Given the description of an element on the screen output the (x, y) to click on. 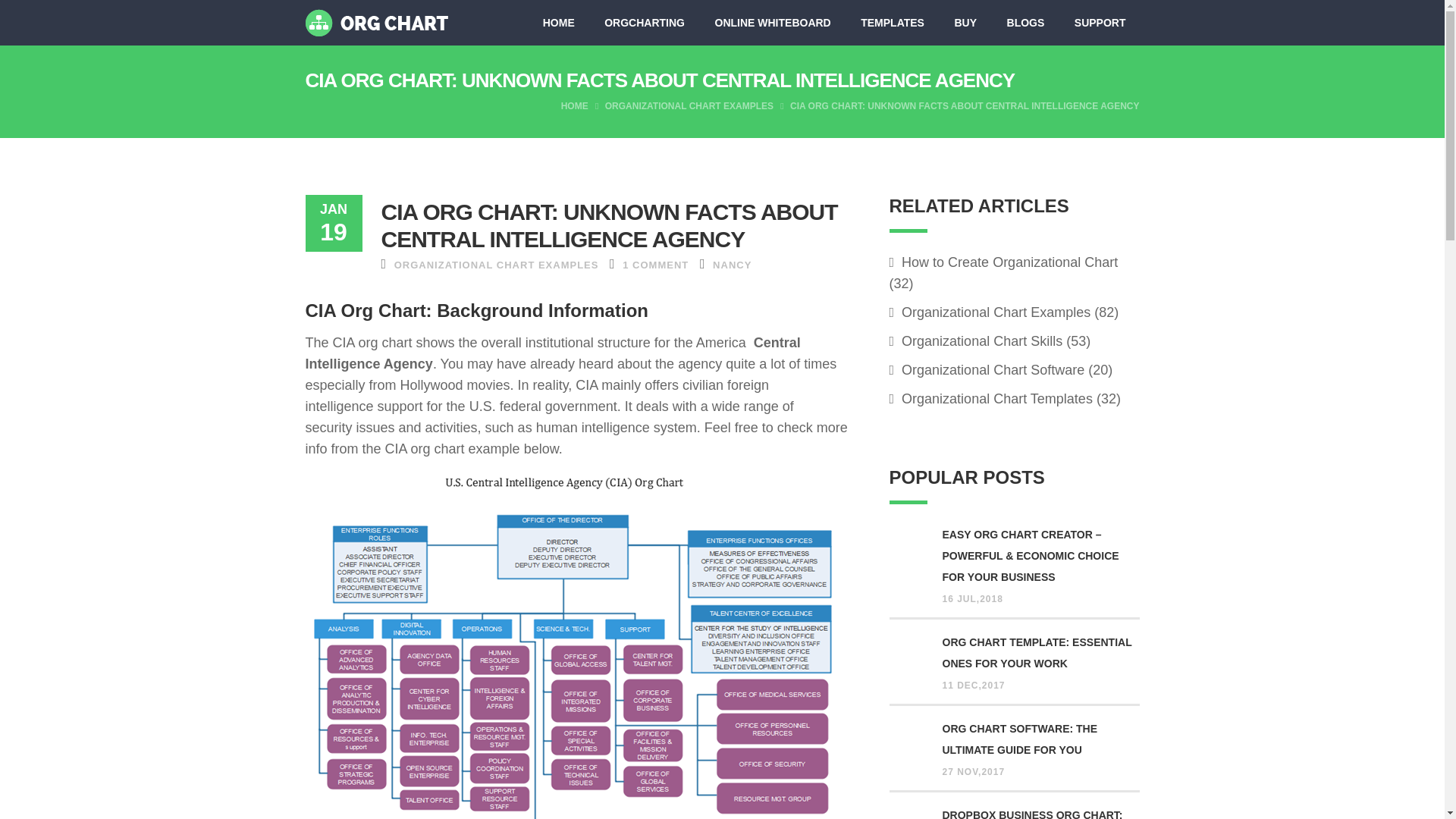
Posts by Nancy (732, 265)
HOME (576, 106)
16 JUL,2018 (972, 598)
ORGANIZATIONAL CHART EXAMPLES (496, 265)
SUPPORT (1100, 22)
HOME (558, 22)
BLOGS (1025, 22)
ONLINE WHITEBOARD (772, 22)
11 DEC,2017 (973, 685)
Organizational Chart Skills (975, 340)
Organizational Chart Examples (989, 312)
NANCY (732, 265)
